Given the description of an element on the screen output the (x, y) to click on. 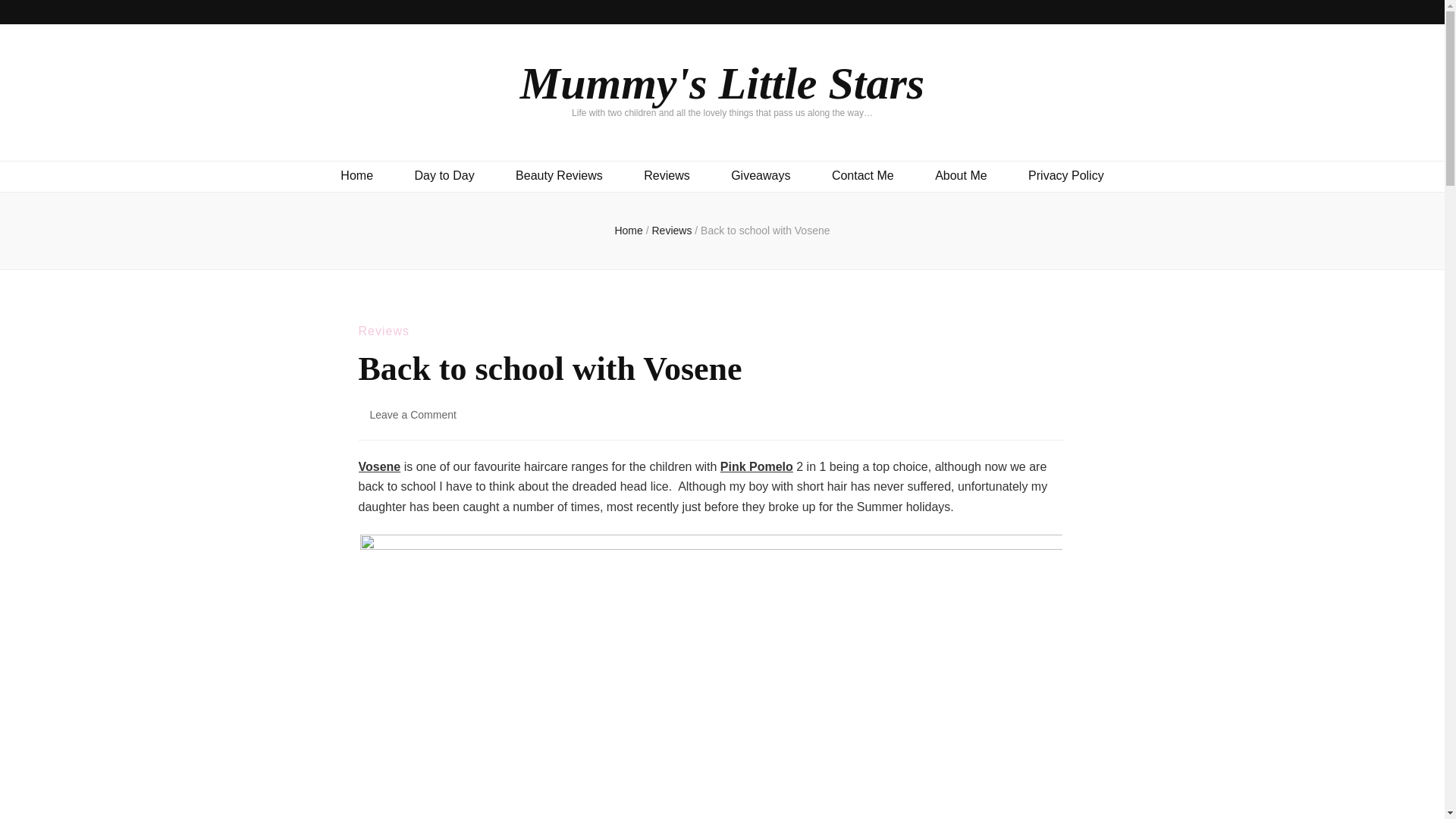
Vosene (379, 466)
Reviews (673, 230)
Beauty Reviews (558, 176)
Day to Day (443, 176)
Home (356, 176)
Contact Me (413, 414)
Back to school with Vosene (862, 176)
About Me (764, 230)
Mummy's Little Stars (960, 176)
Privacy Policy (721, 83)
Giveaways (1065, 176)
Reviews (760, 176)
Reviews (383, 330)
Pink Pomelo (665, 176)
